Given the description of an element on the screen output the (x, y) to click on. 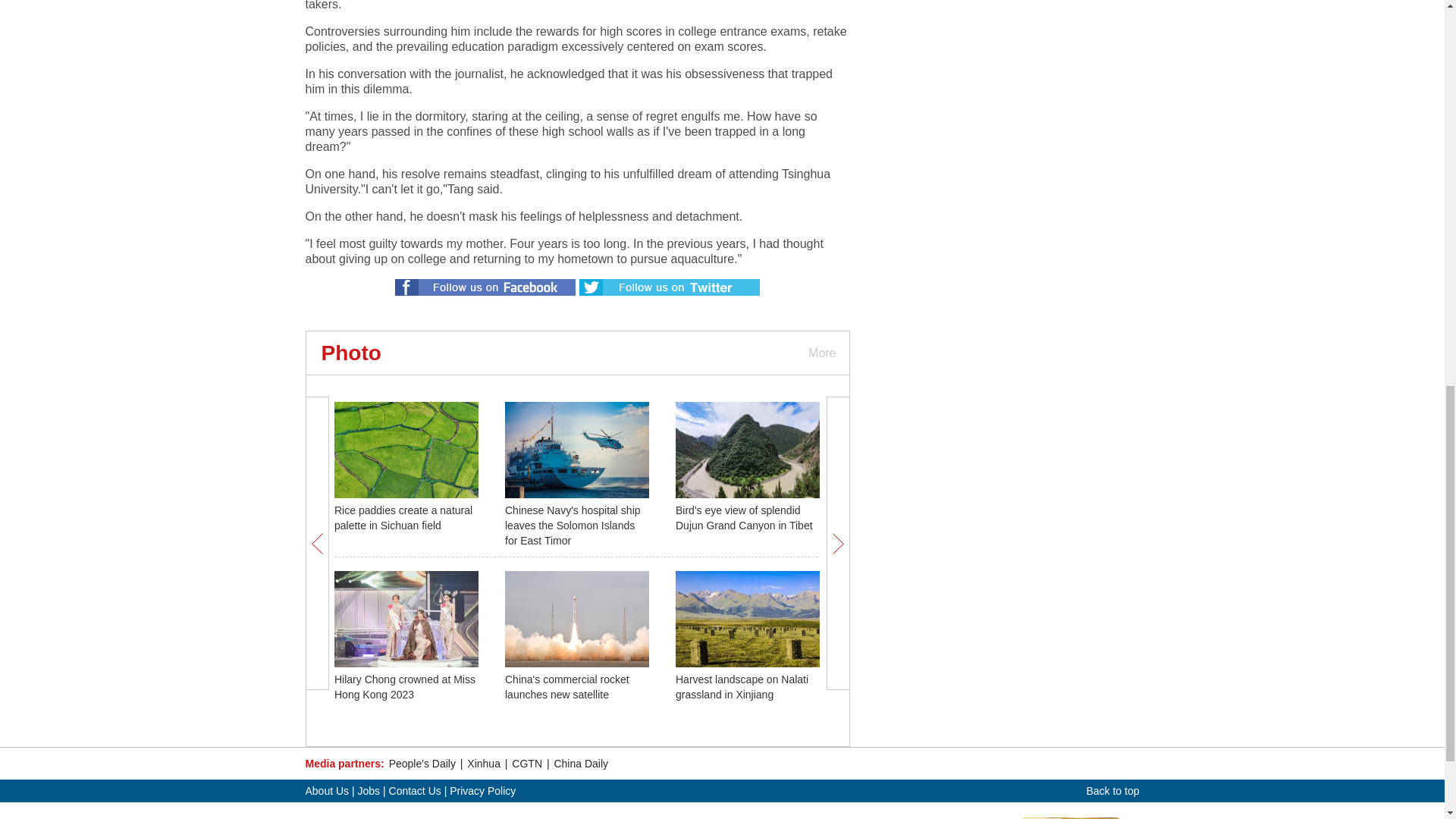
Hilary Chong crowned at Miss Hong Kong 2023 (405, 687)
Harvest landscape on Nalati grassland in Xinjiang (741, 687)
Bird's eye view of splendid Dujun Grand Canyon in Tibet (743, 517)
Rice paddies create a natural palette in Sichuan field (402, 517)
More (820, 352)
China's commercial rocket launches new satellite (566, 687)
